Given the description of an element on the screen output the (x, y) to click on. 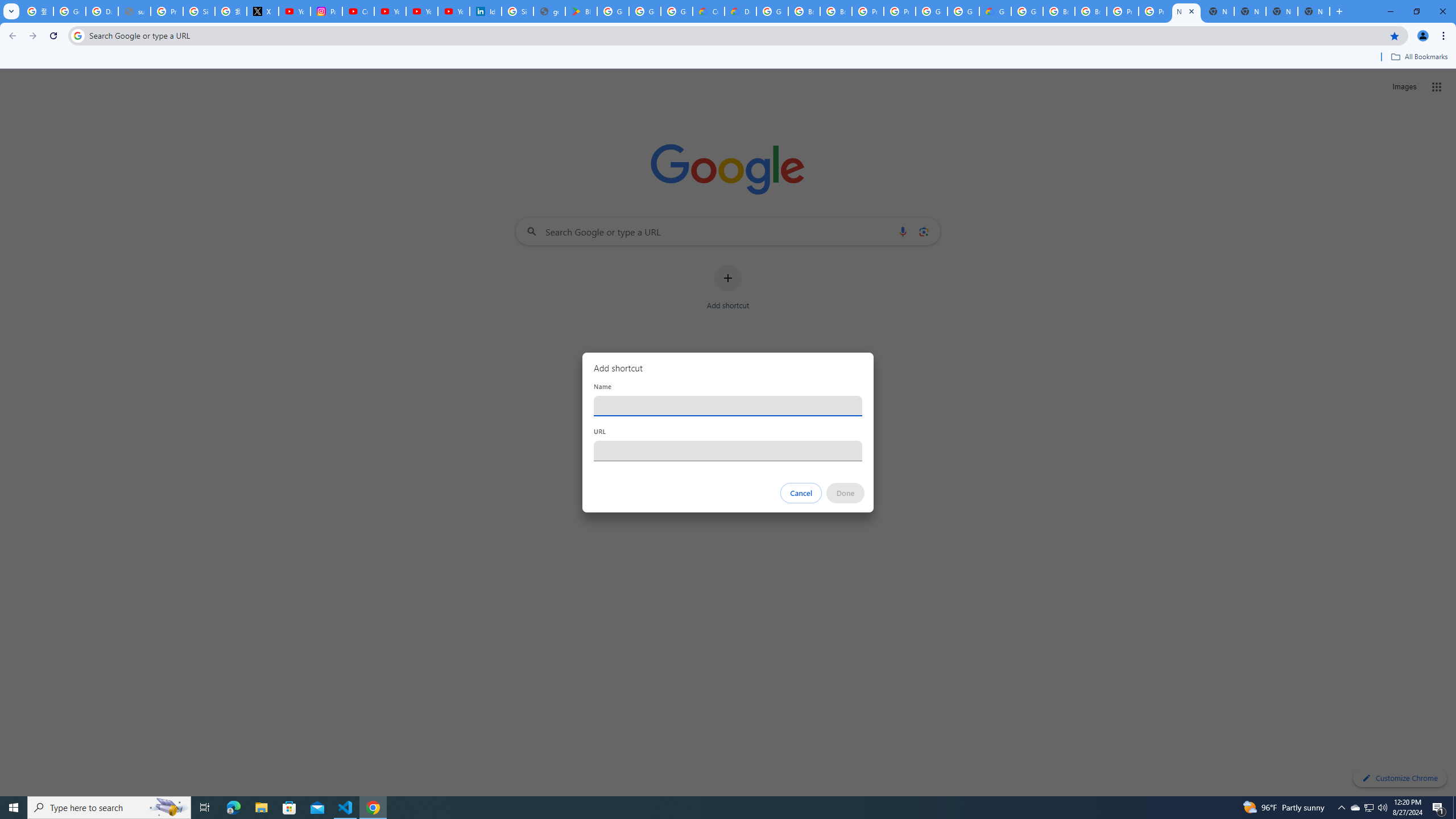
Name (727, 405)
Google Cloud Platform (772, 11)
Sign in - Google Accounts (198, 11)
YouTube Culture & Trends - YouTube Top 10, 2021 (453, 11)
X (262, 11)
New Tab (1313, 11)
Google Cloud Platform (931, 11)
